Given the description of an element on the screen output the (x, y) to click on. 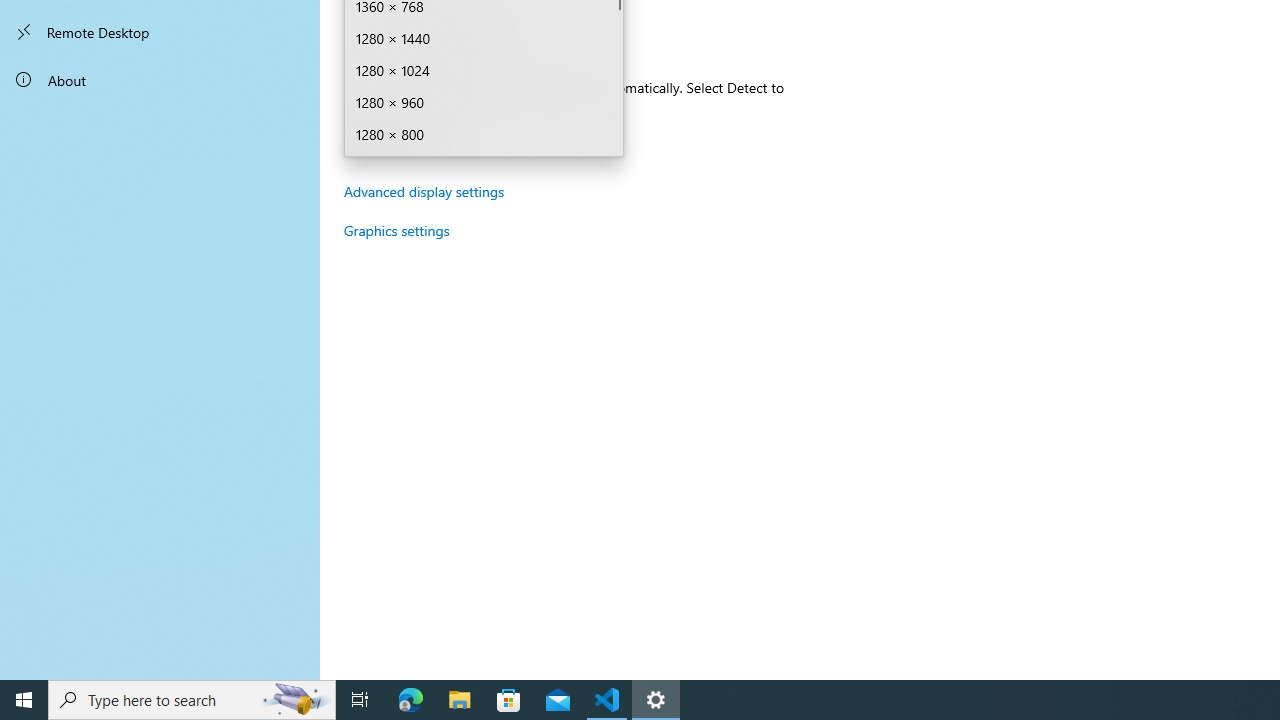
Remote Desktop (160, 31)
